Given the description of an element on the screen output the (x, y) to click on. 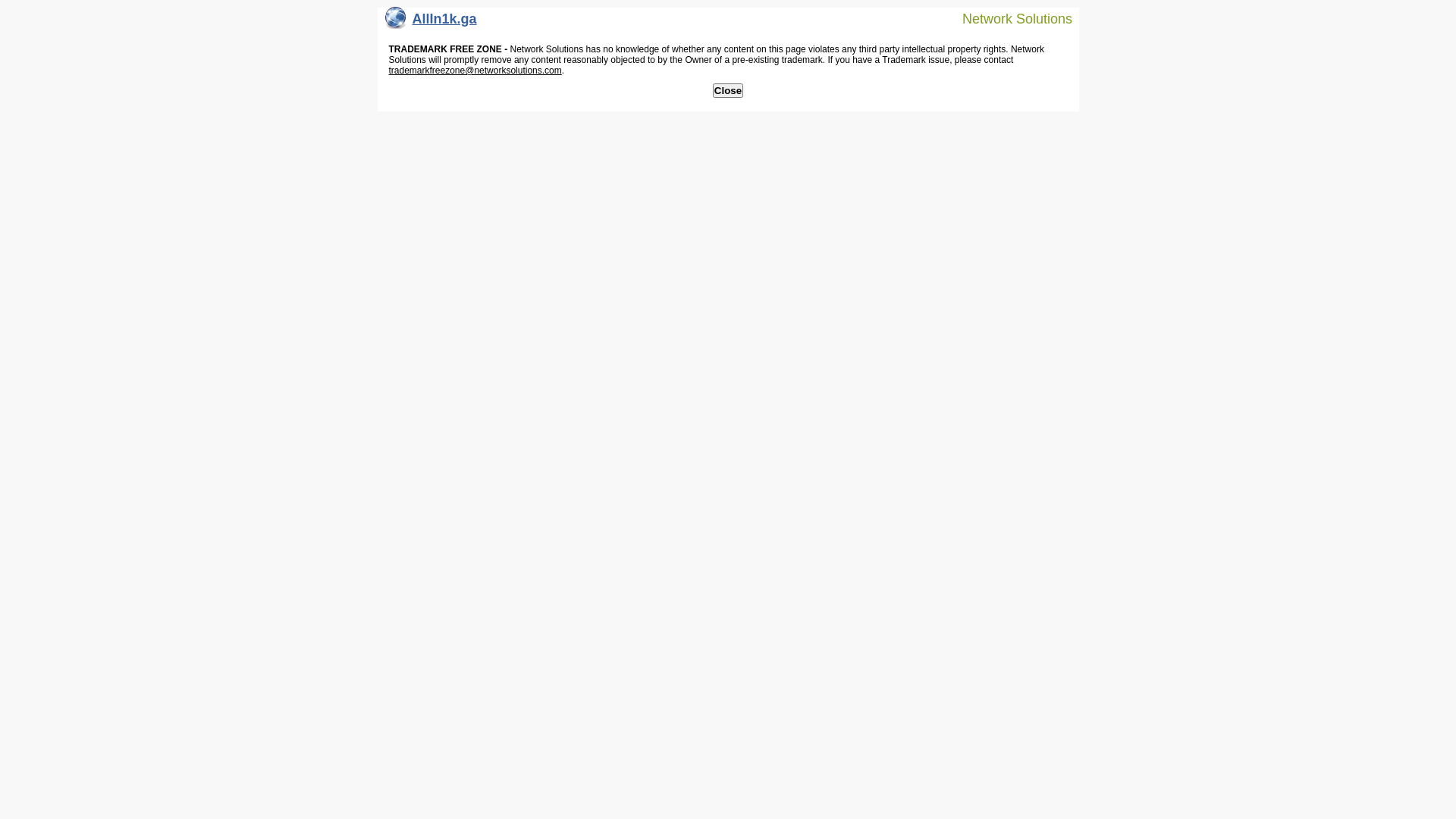
Close Element type: text (727, 90)
Network Solutions Element type: text (1007, 17)
trademarkfreezone@networksolutions.com Element type: text (474, 70)
AllIn1k.ga Element type: text (430, 21)
